Given the description of an element on the screen output the (x, y) to click on. 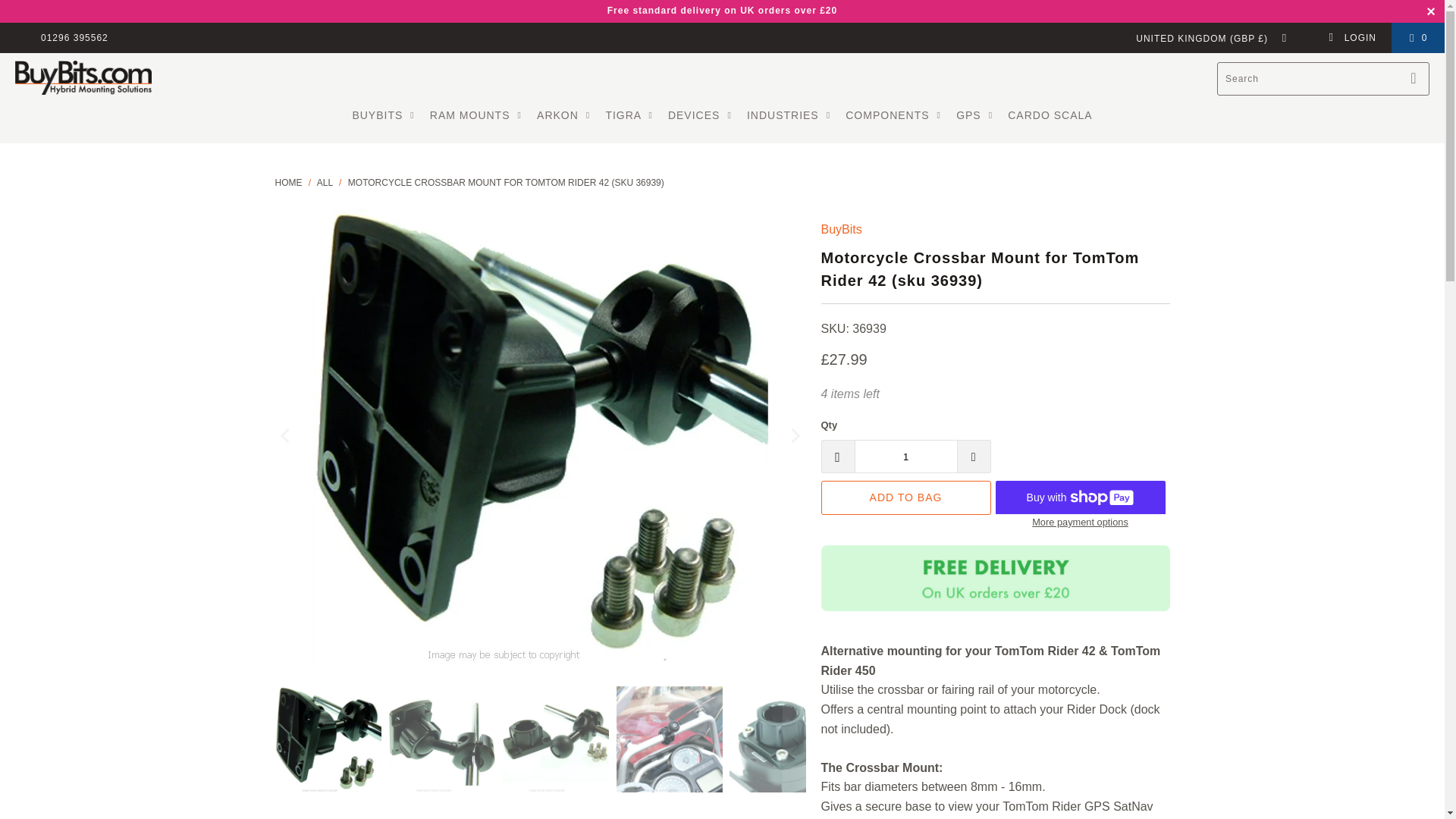
BuyBits Ltd (82, 78)
All (325, 182)
1 (904, 456)
BuyBits Ltd (288, 182)
BuyBits (841, 228)
My Account  (1351, 37)
